Given the description of an element on the screen output the (x, y) to click on. 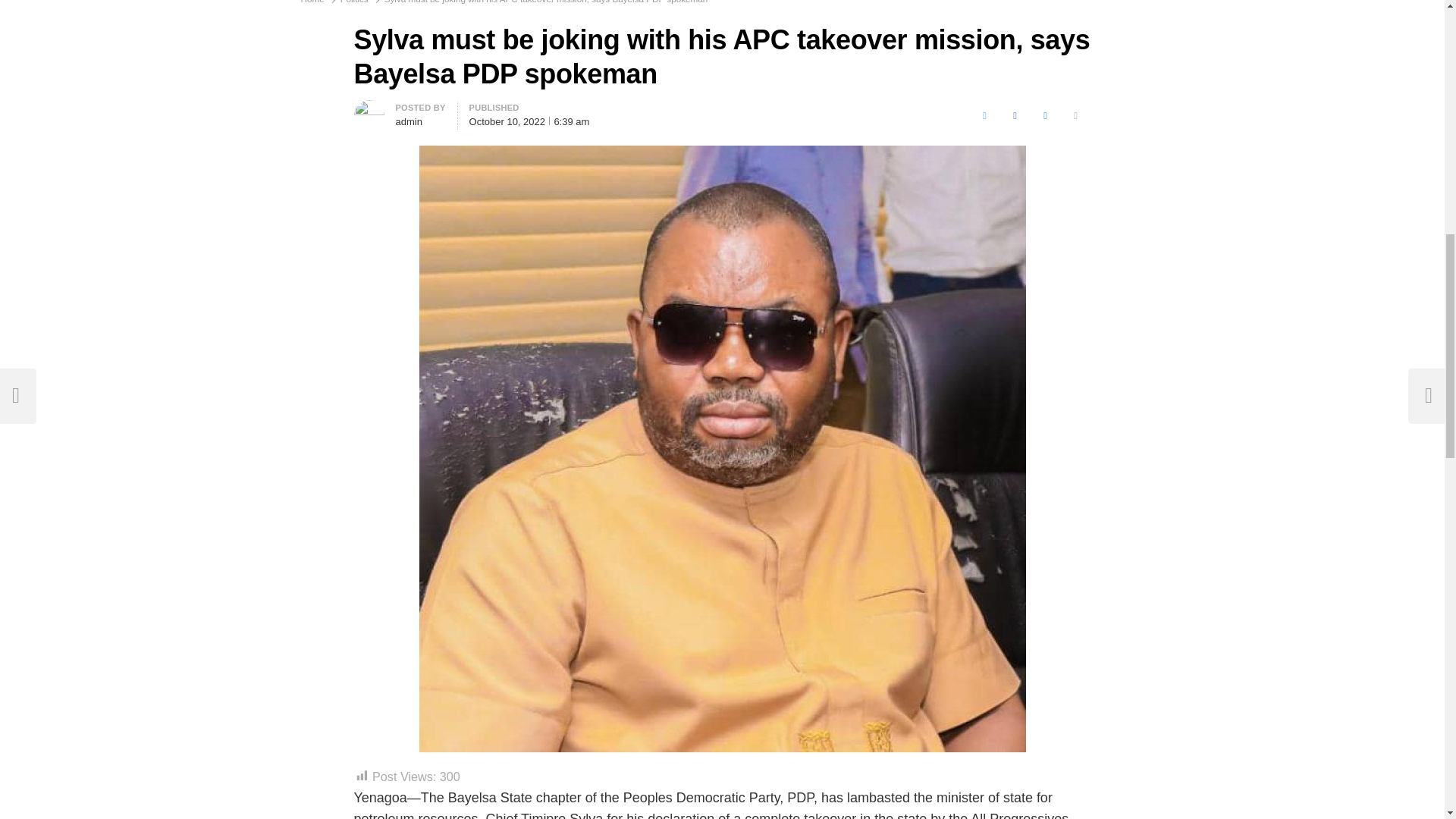
Twitter (984, 115)
Politics (354, 2)
LinkedIn (1045, 115)
admin (409, 121)
Facebook (1015, 115)
More posts by admin (368, 108)
Home (311, 2)
